Given the description of an element on the screen output the (x, y) to click on. 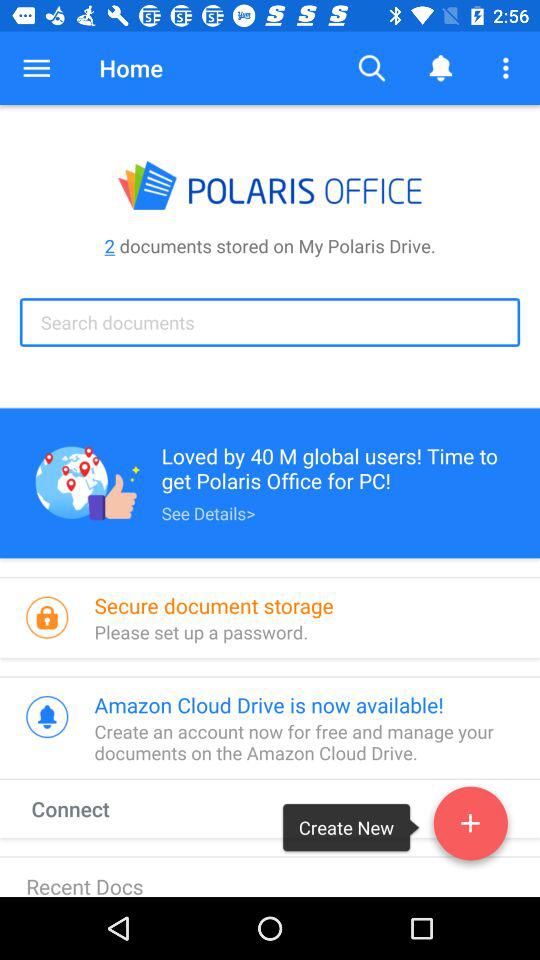
choose item next to the home button (36, 68)
